Given the description of an element on the screen output the (x, y) to click on. 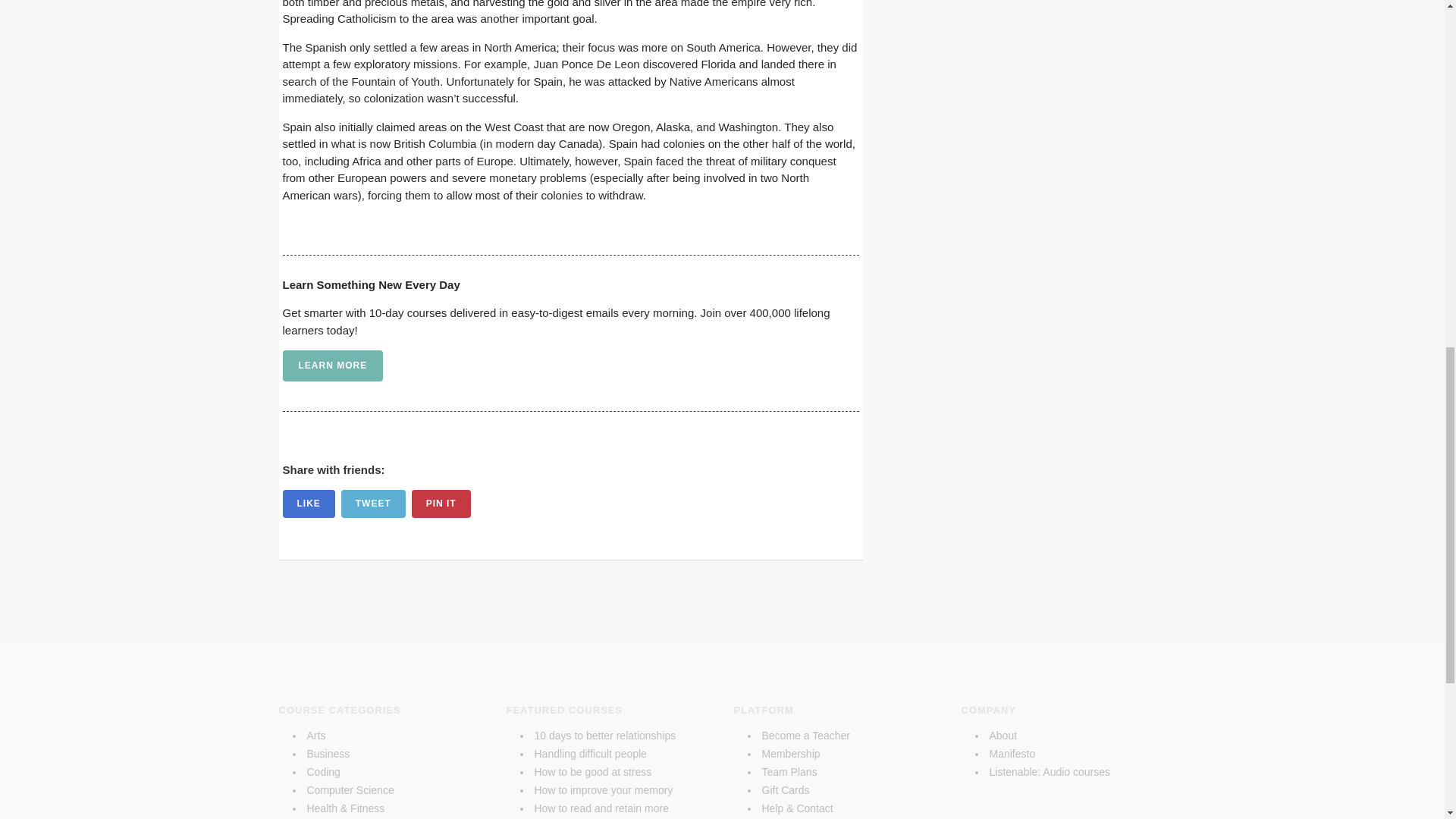
LEARN MORE (332, 365)
Computer Science (349, 789)
Arts (314, 735)
PIN IT (441, 503)
Coding (322, 771)
TWEET (373, 503)
Business (327, 753)
LIKE (308, 503)
